Given the description of an element on the screen output the (x, y) to click on. 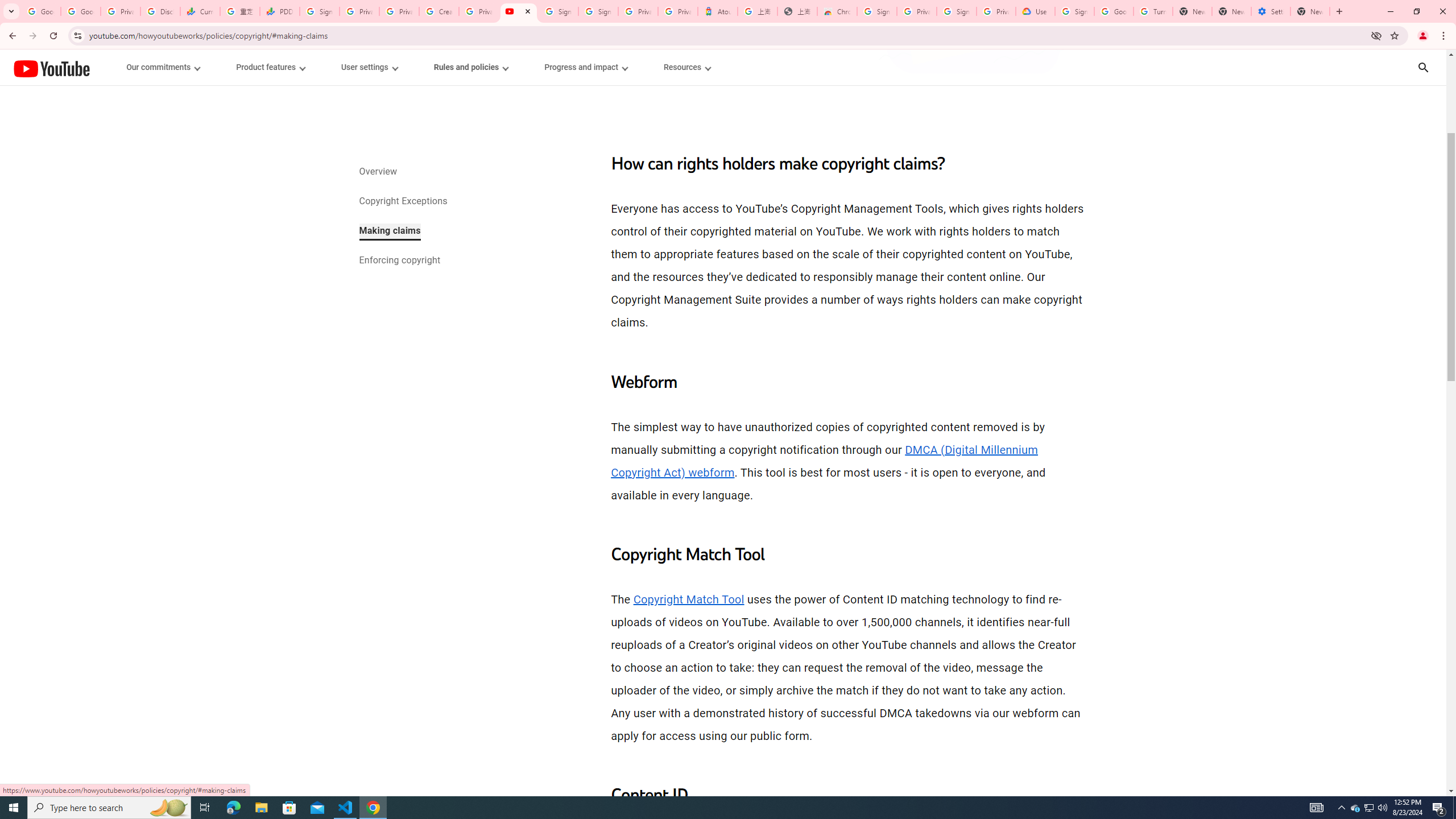
Privacy Checkup (398, 11)
Sign in - Google Accounts (876, 11)
Sign in - Google Accounts (557, 11)
DMCA (Digital Millennium Copyright Act) webform (824, 460)
Currencies - Google Finance (199, 11)
Copyright Exceptions (402, 202)
